Given the description of an element on the screen output the (x, y) to click on. 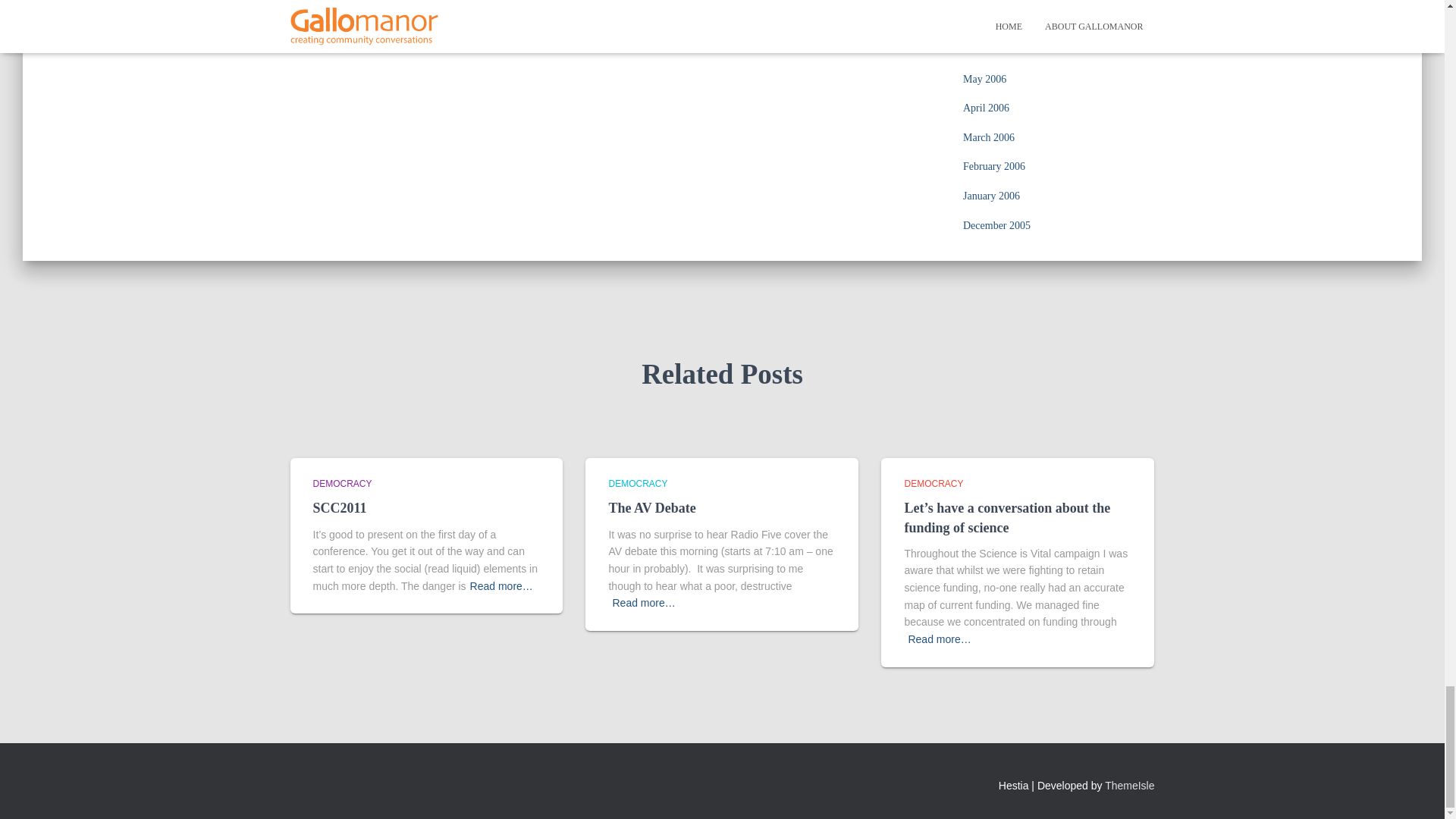
View all posts in Democracy (342, 483)
View all posts in Democracy (637, 483)
The AV Debate (651, 507)
View all posts in Democracy (933, 483)
SCC2011 (339, 507)
